Given the description of an element on the screen output the (x, y) to click on. 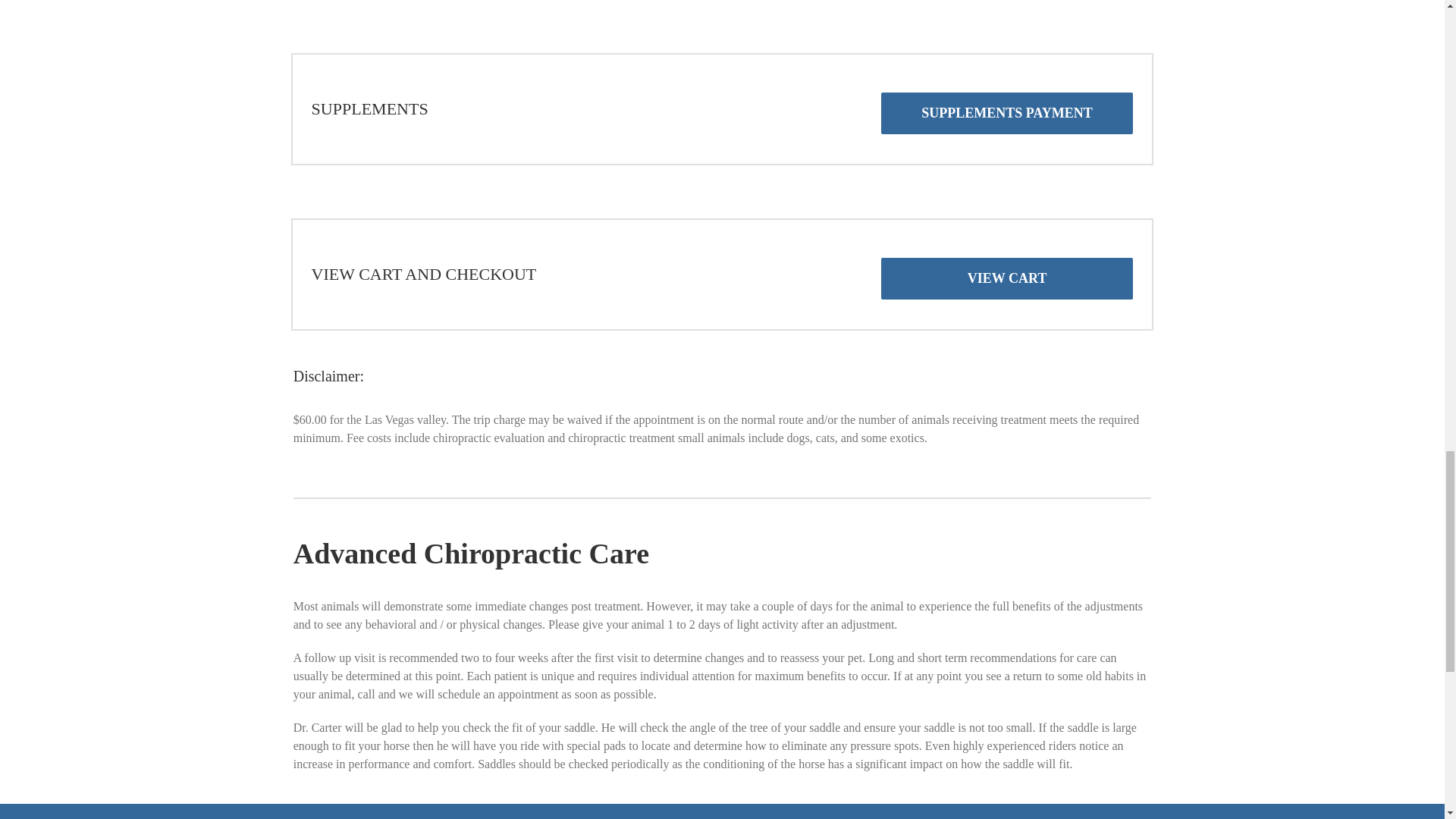
VIEW CART (1006, 278)
View Cart (1006, 278)
Supplements Payment (1006, 113)
SUPPLEMENTS PAYMENT (1006, 113)
